Given the description of an element on the screen output the (x, y) to click on. 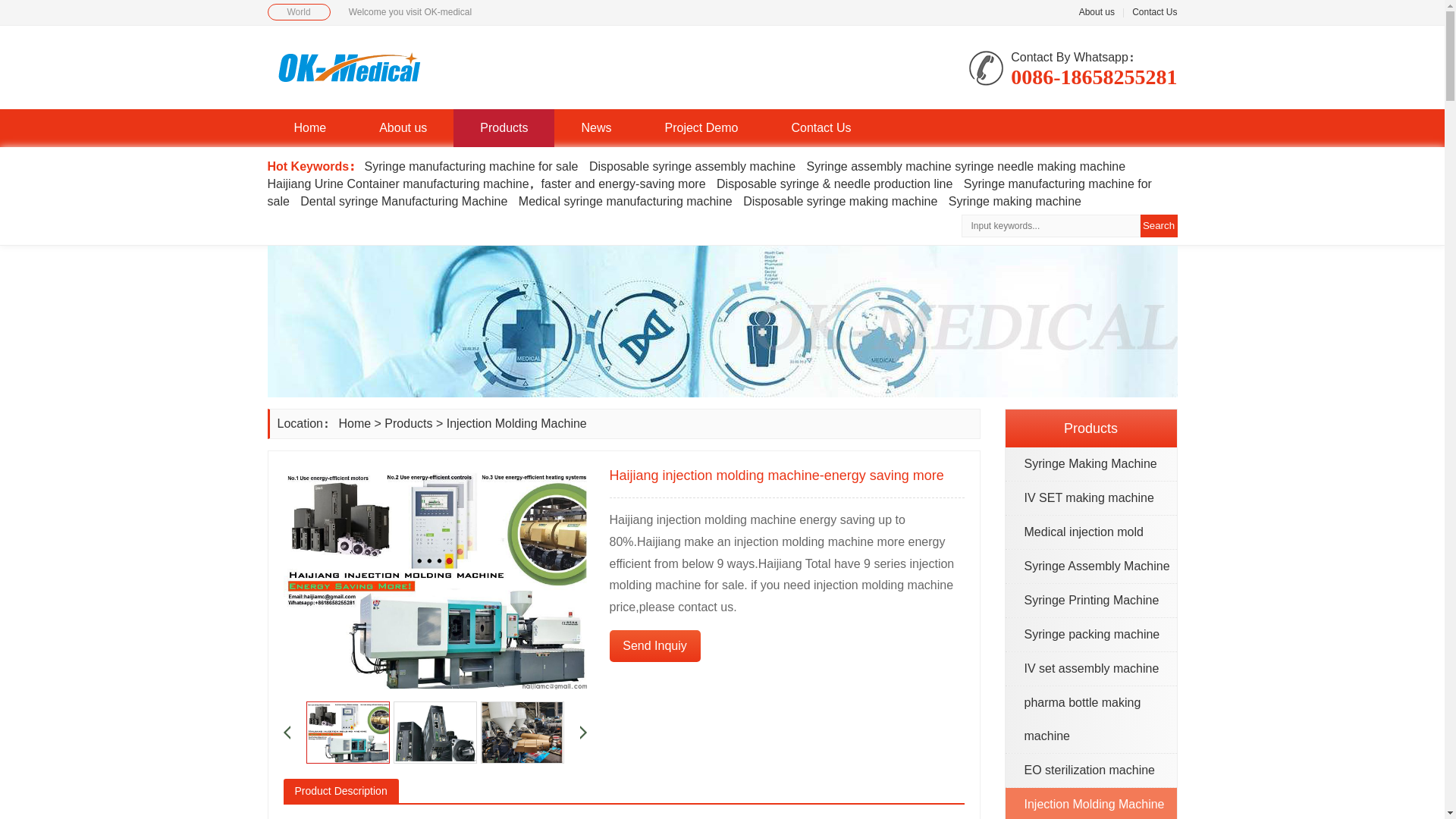
Products (503, 127)
Contact Us (1154, 11)
About us (402, 127)
News (595, 127)
Disposable syringe assembly machine (691, 165)
Home (309, 127)
Syringe manufacturing machine for sale (708, 192)
About us (1096, 11)
Contact Us (820, 127)
World (298, 12)
Search (1158, 225)
Disposable syringe making machine (839, 201)
Project Demo (702, 127)
Medical syringe manufacturing machine (625, 201)
Syringe making machine (1015, 201)
